Given the description of an element on the screen output the (x, y) to click on. 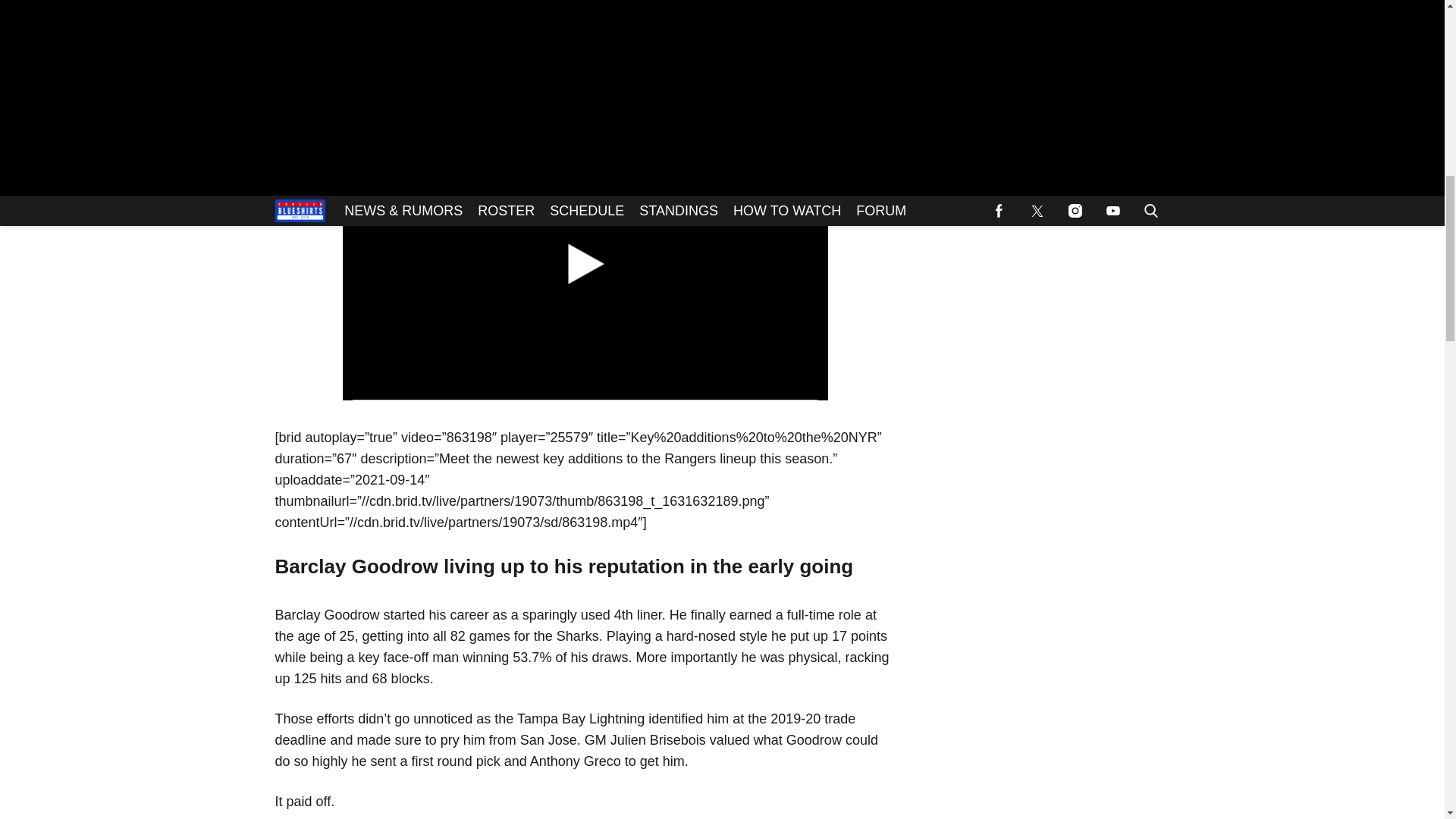
Play Video (585, 263)
Dallas Stars (603, 14)
Play Video (584, 263)
